Given the description of an element on the screen output the (x, y) to click on. 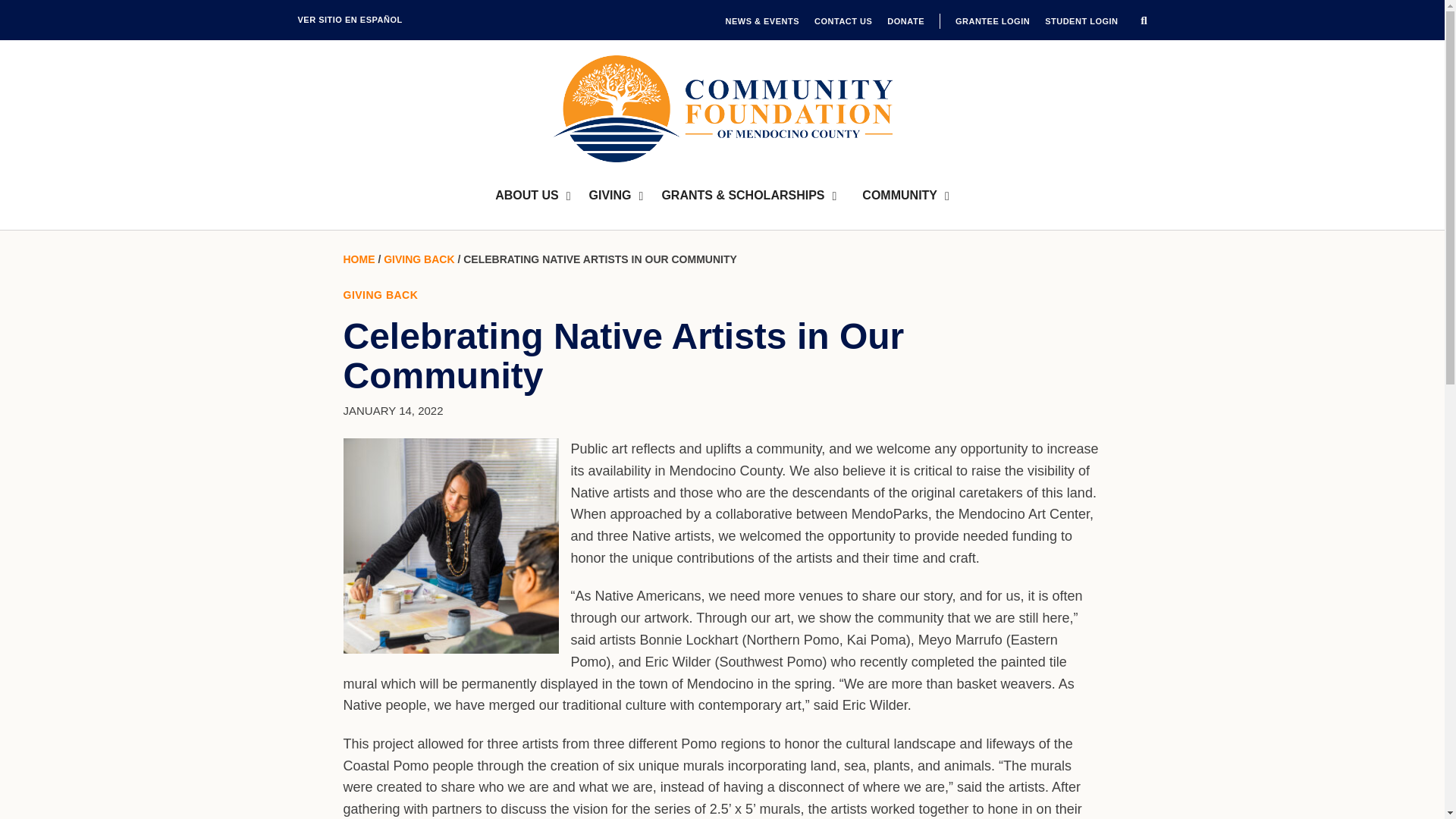
STUDENT LOGIN (1081, 20)
ABOUT US (532, 195)
CONTACT US (842, 20)
DONATE (905, 20)
GRANTEE LOGIN (992, 20)
GIVING (616, 195)
